Given the description of an element on the screen output the (x, y) to click on. 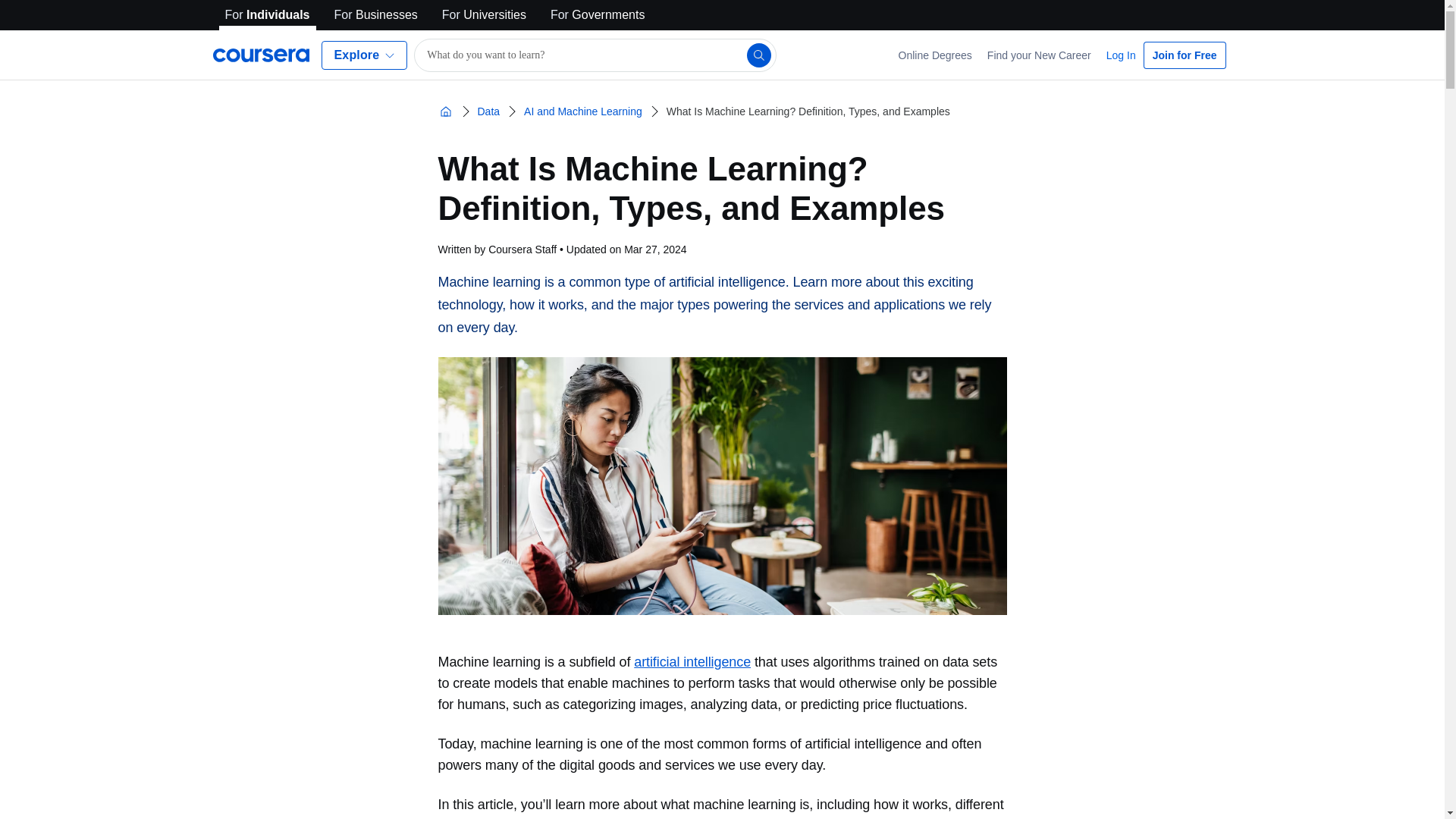
For Governments (597, 15)
For Universities (483, 15)
Online Degrees (935, 54)
For Businesses (376, 15)
For Individuals (266, 15)
Log In (1120, 54)
Explore (364, 54)
AI and Machine Learning (582, 111)
Find your New Career (1039, 54)
artificial intelligence (692, 661)
